Given the description of an element on the screen output the (x, y) to click on. 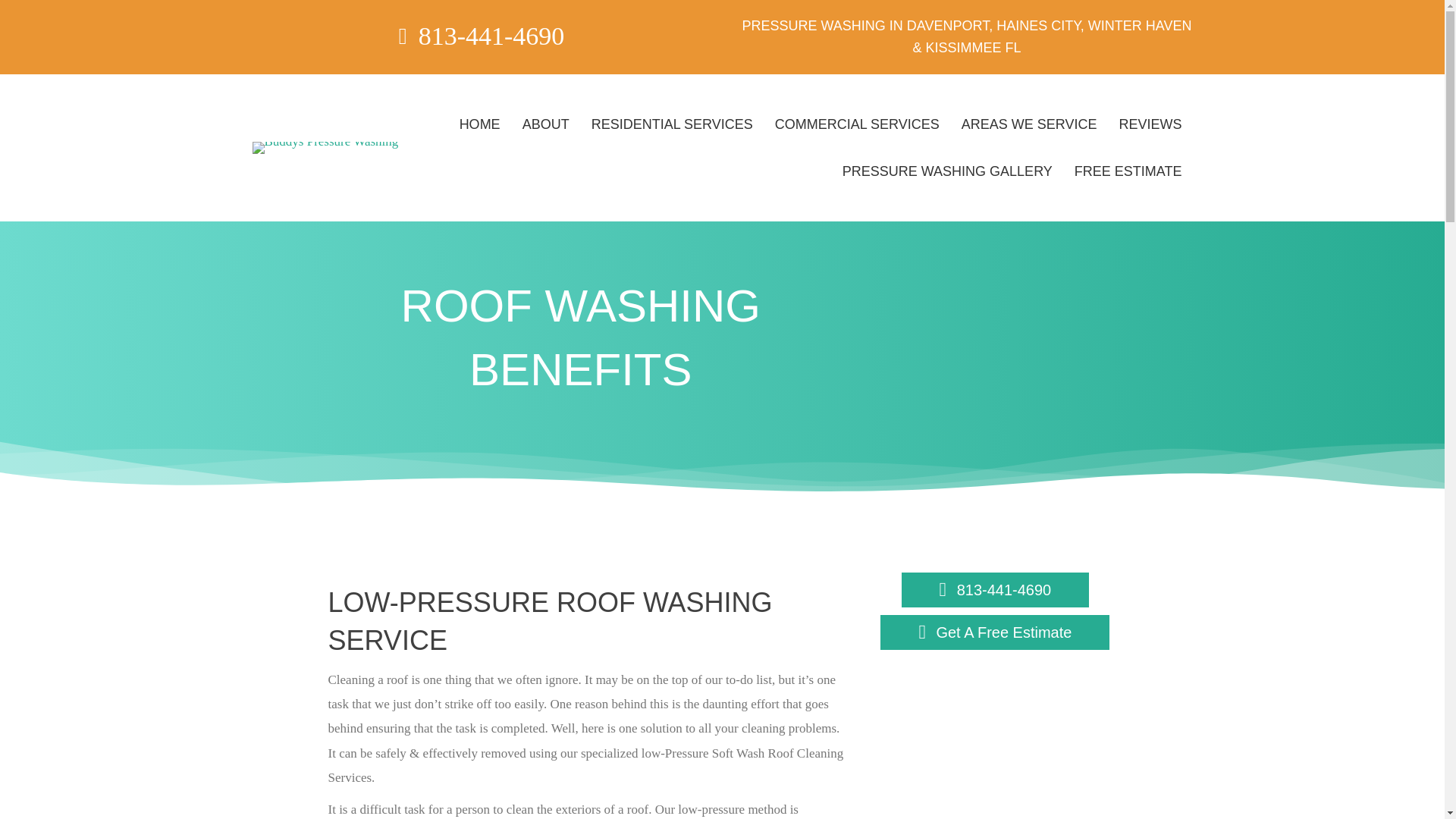
HOME (479, 124)
RESIDENTIAL SERVICES (671, 124)
813-441-4690 (491, 36)
PRESSURE WASHING GALLERY (946, 171)
AREAS WE SERVICE (1029, 124)
Buddys Pressure Washing (324, 147)
COMMERCIAL SERVICES (857, 124)
813-441-4690 (995, 589)
FREE ESTIMATE (1128, 171)
ABOUT (545, 124)
REVIEWS (1150, 124)
Get A Free Estimate (994, 632)
